Given the description of an element on the screen output the (x, y) to click on. 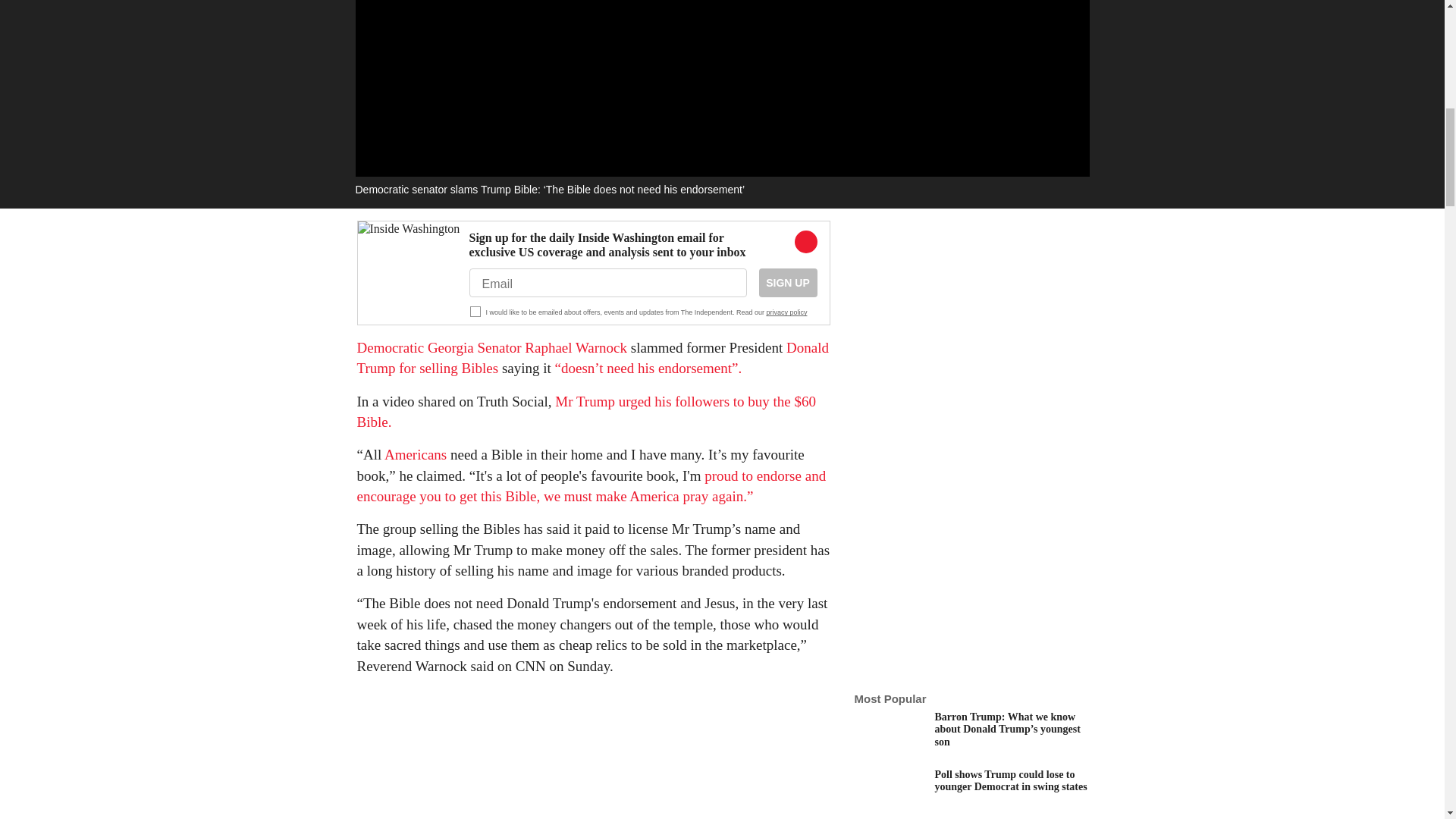
SNL roasts Trump over bizarre attempt to sell Bibles (585, 411)
